Given the description of an element on the screen output the (x, y) to click on. 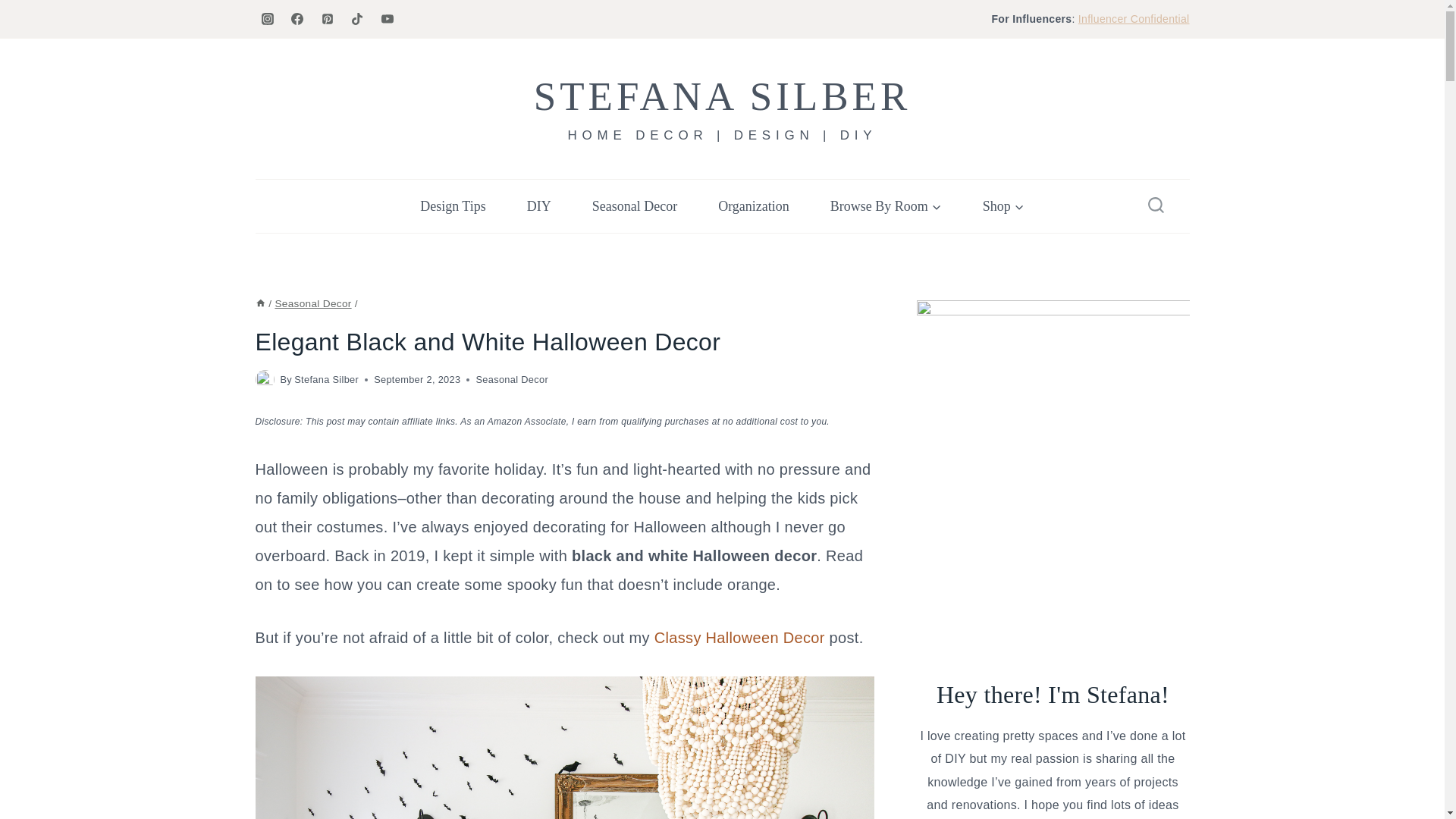
Browse By Room (885, 205)
Design Tips (452, 205)
DIY (539, 205)
Classy Halloween Decor (739, 637)
Organization (753, 205)
Seasonal Decor (512, 378)
Home (259, 303)
Seasonal Decor (312, 303)
Influencer Confidential (1133, 19)
Shop (1003, 205)
Seasonal Decor (634, 205)
